Given the description of an element on the screen output the (x, y) to click on. 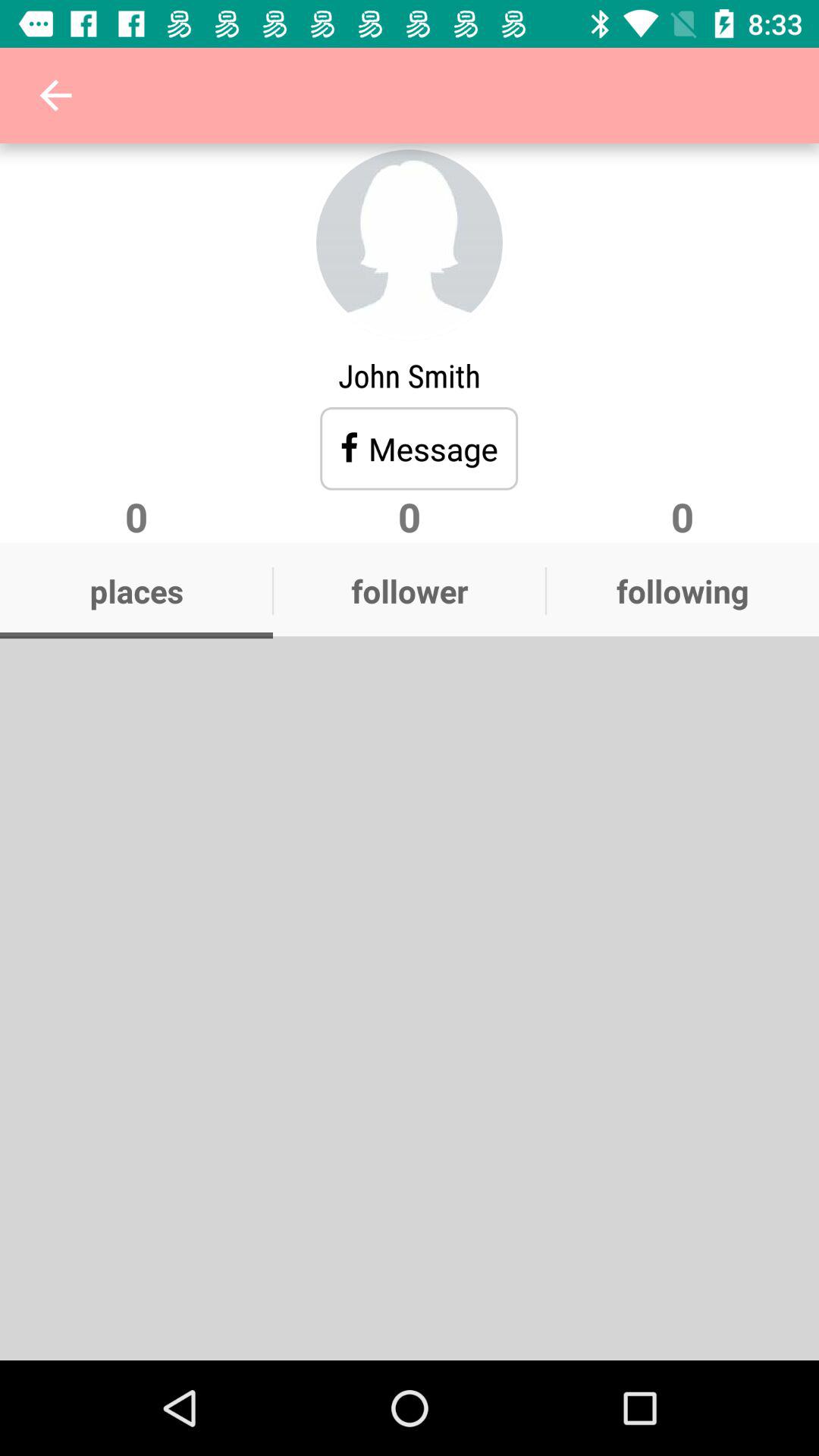
turn on app to the right of the follower icon (682, 590)
